Given the description of an element on the screen output the (x, y) to click on. 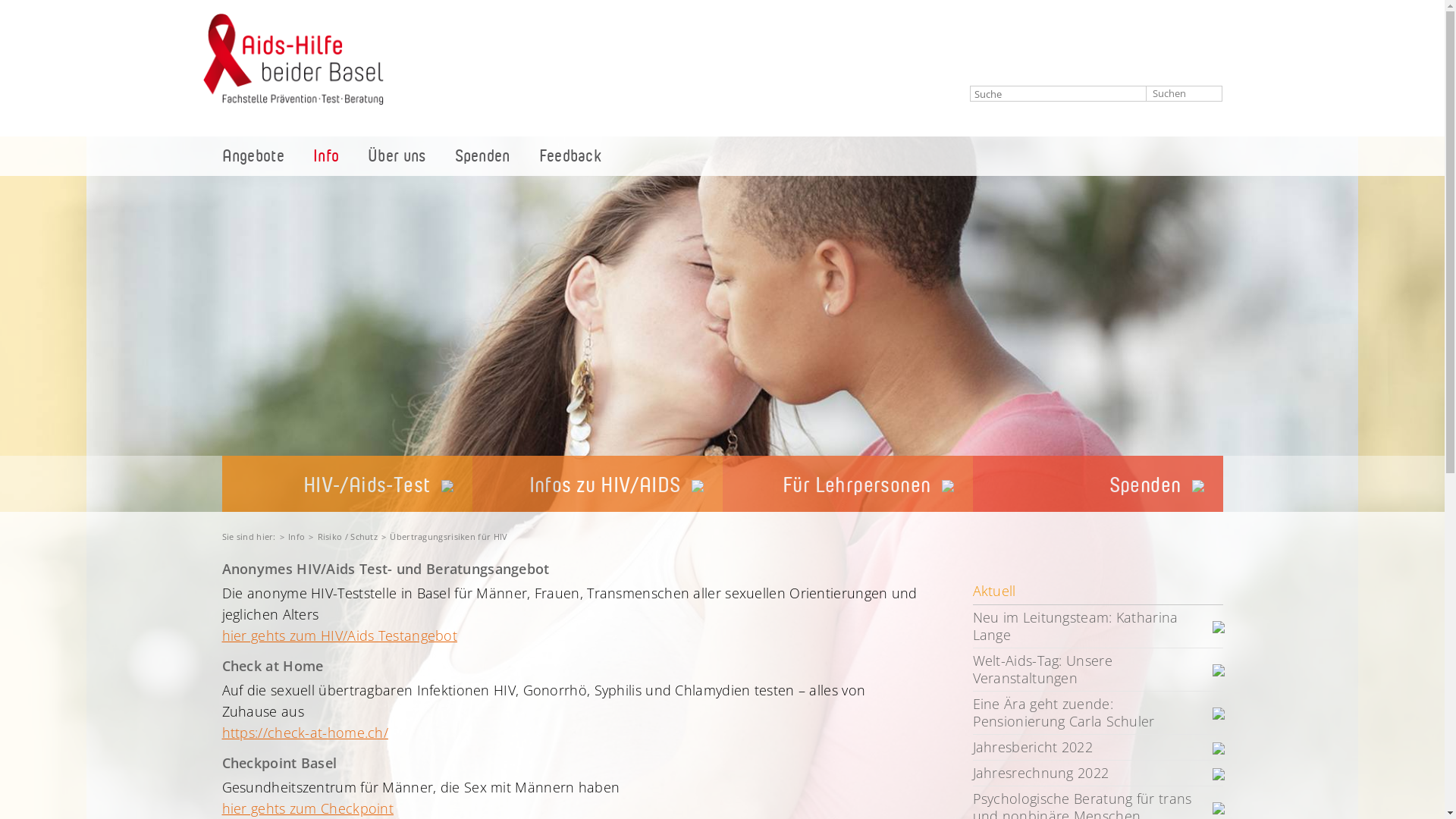
Angebote Element type: text (252, 155)
Feedback Element type: text (570, 155)
Neu im Leitungsteam: Katharina Lange Element type: text (1097, 626)
Suchen Element type: text (1184, 93)
hier gehts zum Checkpoint Element type: text (307, 808)
hier gehts zum HIV/Aids Testangebot Element type: text (339, 635)
Risiko / Schutz Element type: text (347, 536)
Infos zu HIV/AIDS Element type: text (596, 483)
Welt-Aids-Tag: Unsere Veranstaltungen Element type: text (1097, 669)
Info Element type: text (296, 536)
Spenden Element type: text (482, 155)
https://check-at-home.ch/ Element type: text (304, 732)
Info Element type: text (325, 155)
HIV-/Aids-Test Element type: text (346, 483)
Spenden Element type: text (1097, 483)
Jahresbericht 2022 Element type: text (1097, 747)
Jahresrechnung 2022 Element type: text (1097, 773)
